Given the description of an element on the screen output the (x, y) to click on. 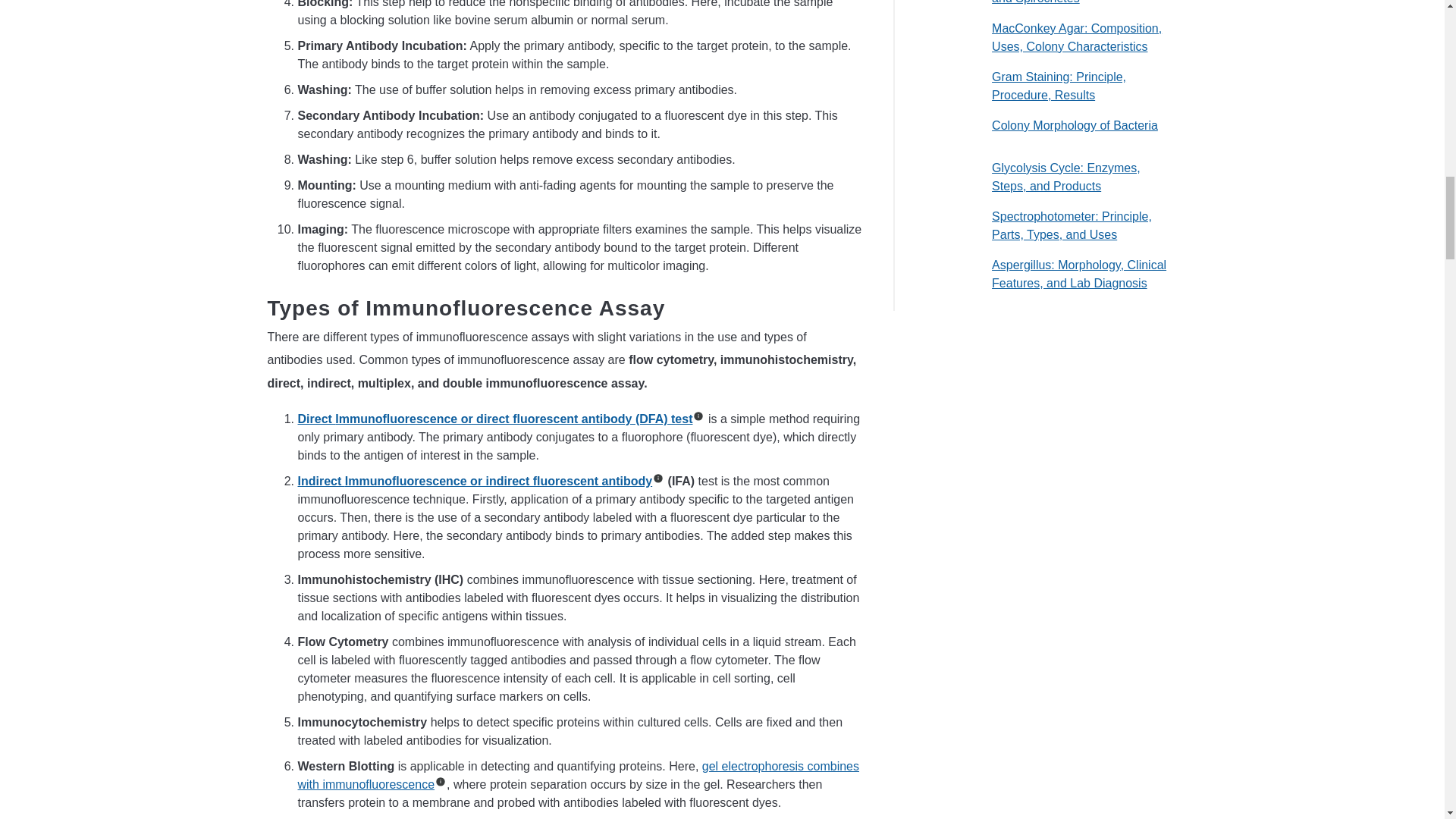
Colony Morphology of Bacteria (1074, 124)
Immunofluorescence or indirect fluorescent antibody (498, 481)
Gram Staining: Principle, Procedure, Results (1058, 85)
Shapes of Bacteria: Cocci, Bacilli, and Spirochetes (1082, 2)
Direct (315, 418)
Indirect (320, 481)
gel electrophoresis combines with immunofluorescence (578, 775)
MacConkey Agar: Composition, Uses, Colony Characteristics (1076, 37)
